Given the description of an element on the screen output the (x, y) to click on. 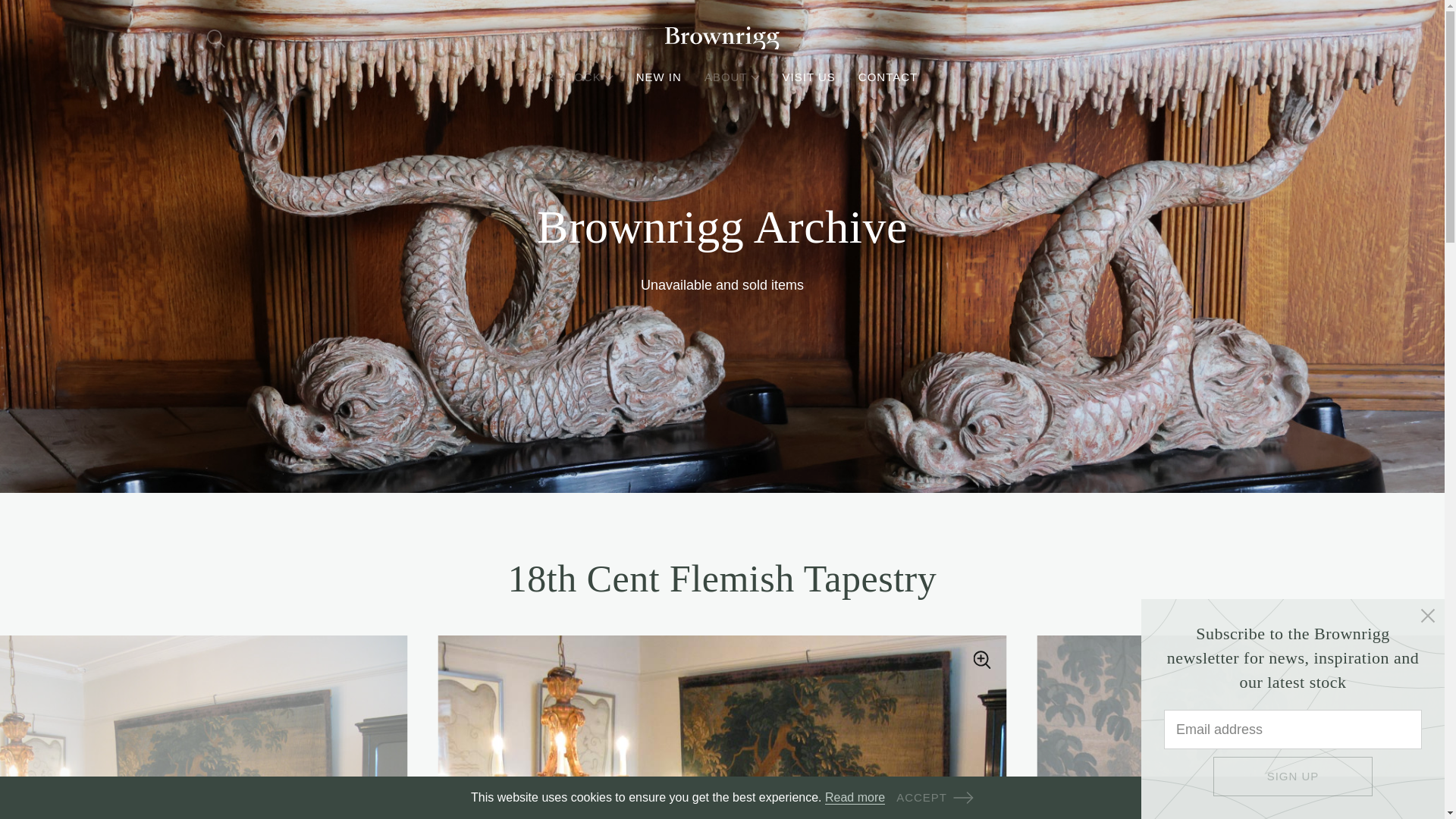
CONTACT (888, 77)
OUR STOCK (569, 77)
Brownrigg Interiors (720, 37)
NEW IN (658, 77)
VISIT US (809, 77)
ABOUT (732, 77)
